Given the description of an element on the screen output the (x, y) to click on. 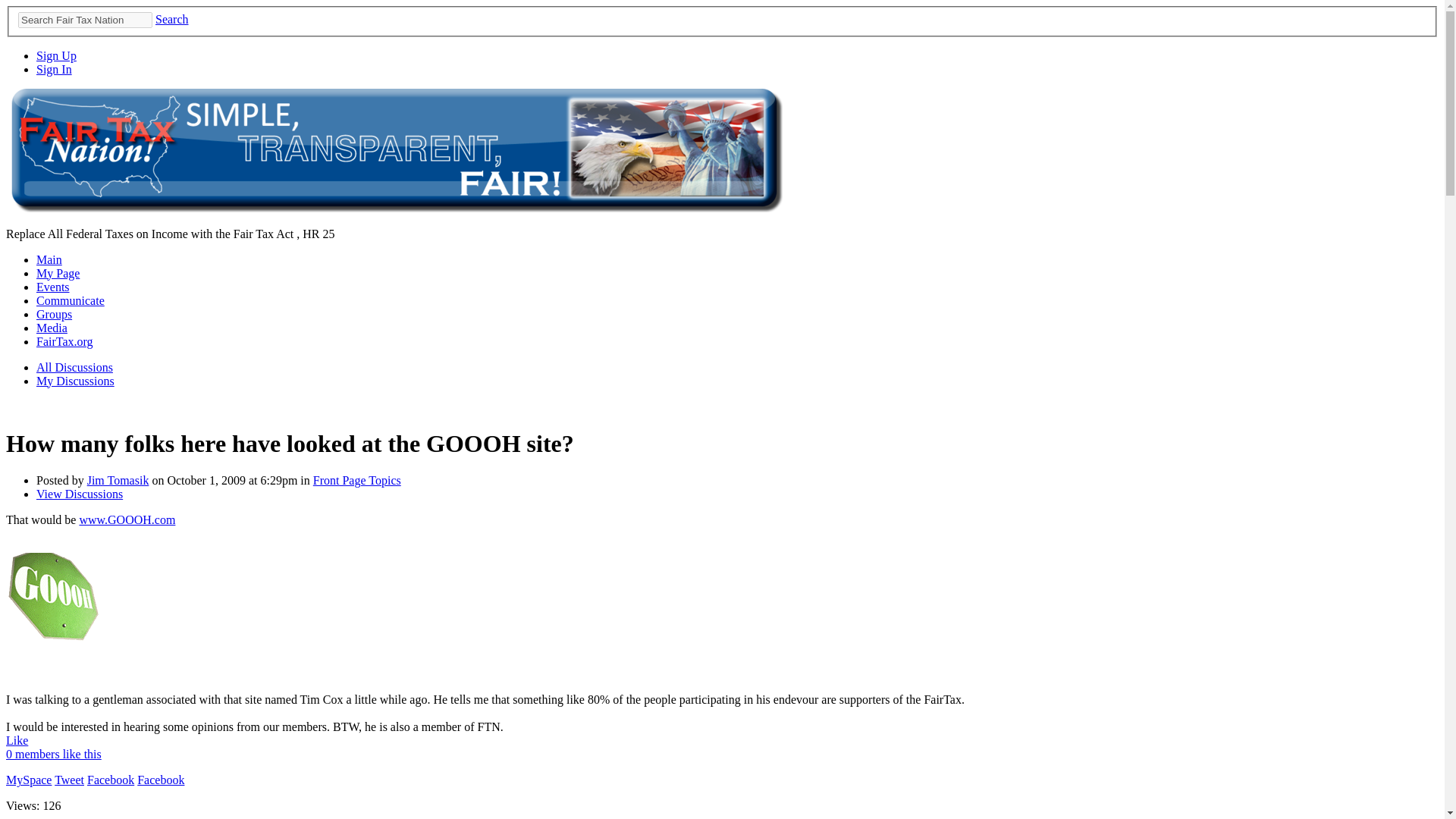
Search (172, 19)
on October 1, 2009 at 6:29pm in (230, 480)
Media (51, 327)
All Discussions (74, 367)
Search Fair Tax Nation (84, 19)
Search Fair Tax Nation (84, 19)
FairTax.org (64, 341)
Events (52, 286)
My Discussions (75, 380)
Sign In (53, 69)
My Page (58, 273)
Sign Up (56, 55)
Communicate (70, 300)
Jim Tomasik (118, 480)
Groups (53, 314)
